Given the description of an element on the screen output the (x, y) to click on. 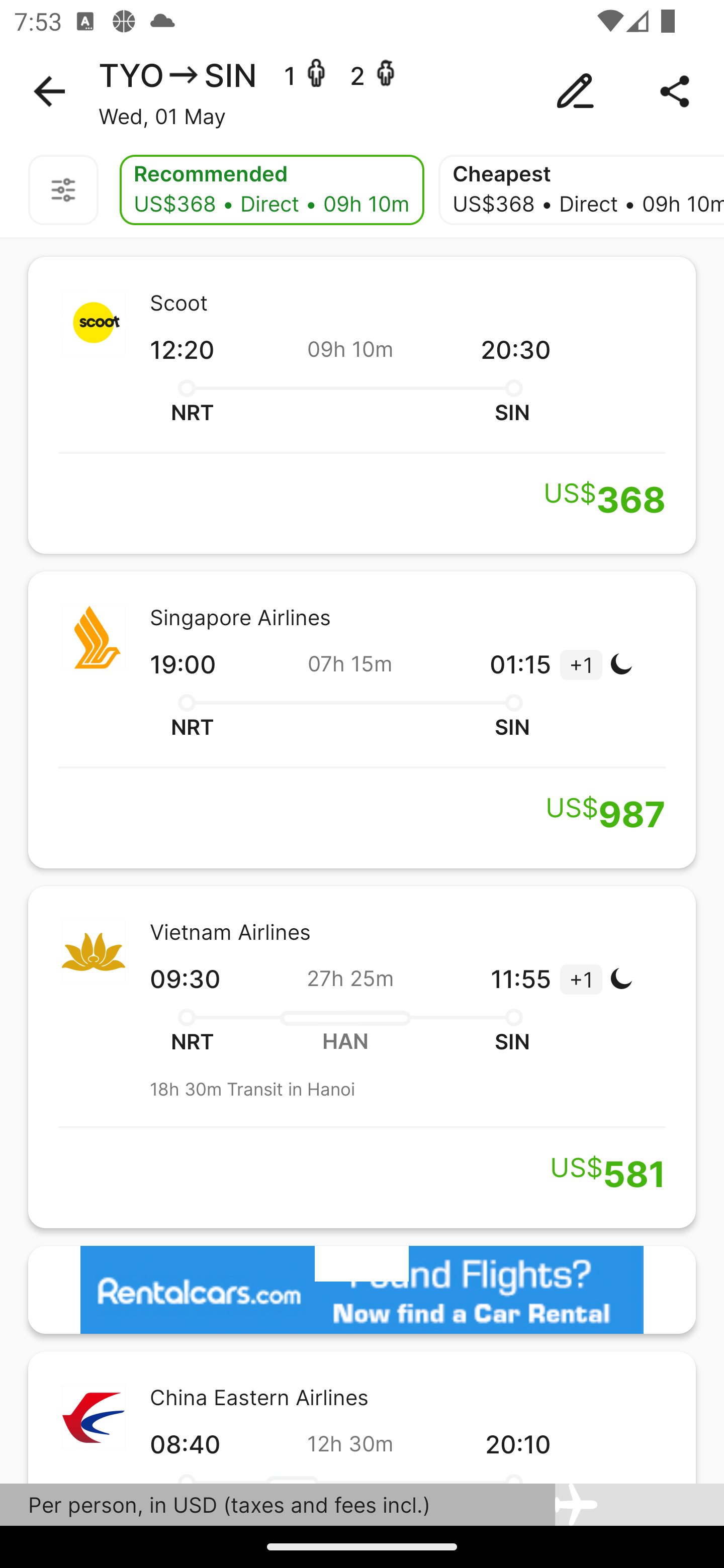
TYO SIN   1 -   2 - Wed, 01 May (361, 91)
Recommended  US$368 • Direct • 09h 10m (271, 190)
Cheapest US$368 • Direct • 09h 10m (581, 190)
Scoot 12:20 09h 10m 20:30 NRT SIN (361, 405)
Singapore Airlines 19:00 07h 15m 01:15 NRT SIN +1 (361, 719)
%3FaffiliateCode%3Dwego882 (361, 1290)
China Eastern Airlines 08:40 12h 30m 20:10 (361, 1417)
